Given the description of an element on the screen output the (x, y) to click on. 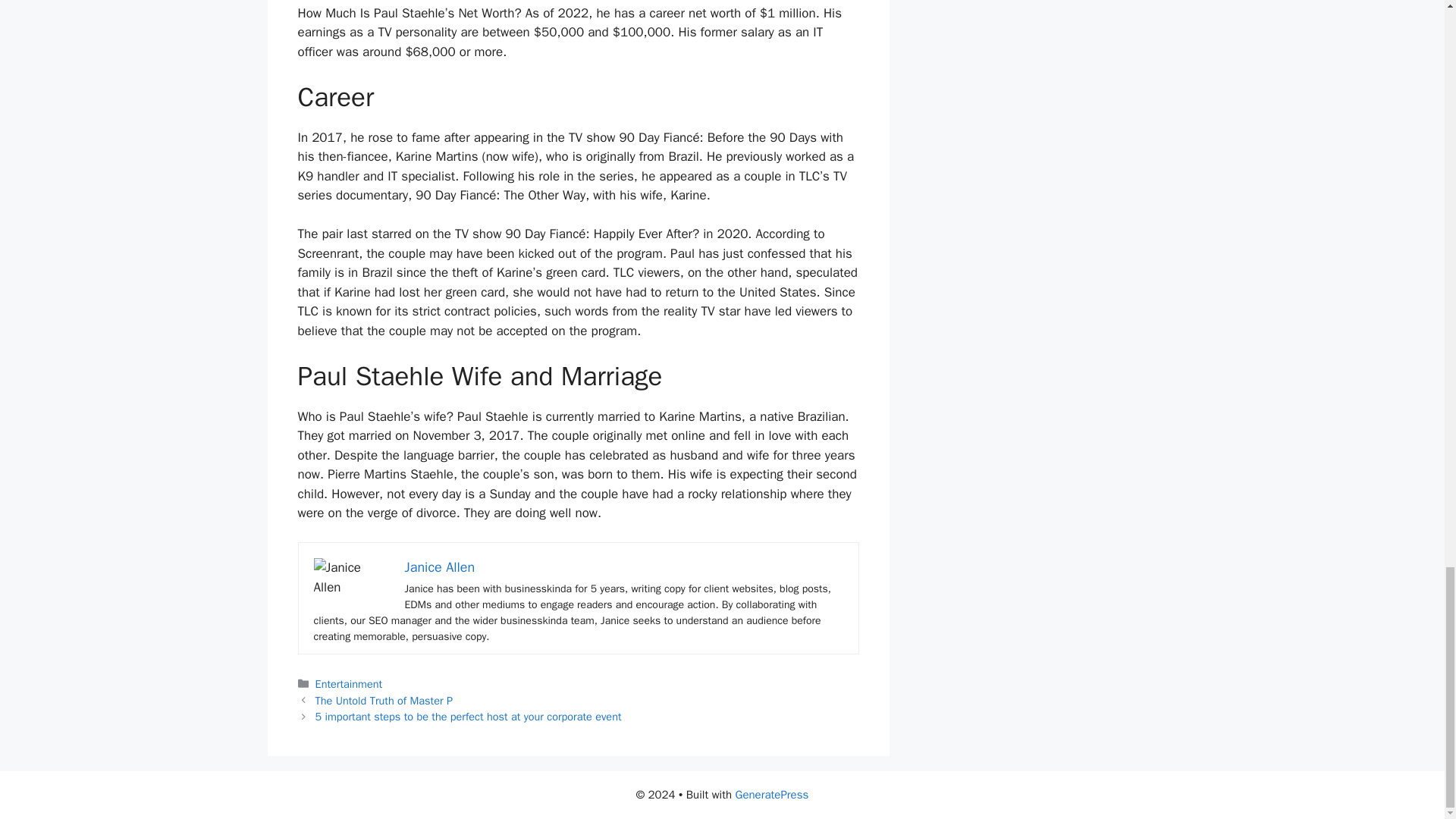
Janice Allen (440, 566)
GeneratePress (772, 794)
Entertainment (348, 684)
The Untold Truth of Master P (383, 700)
